Given the description of an element on the screen output the (x, y) to click on. 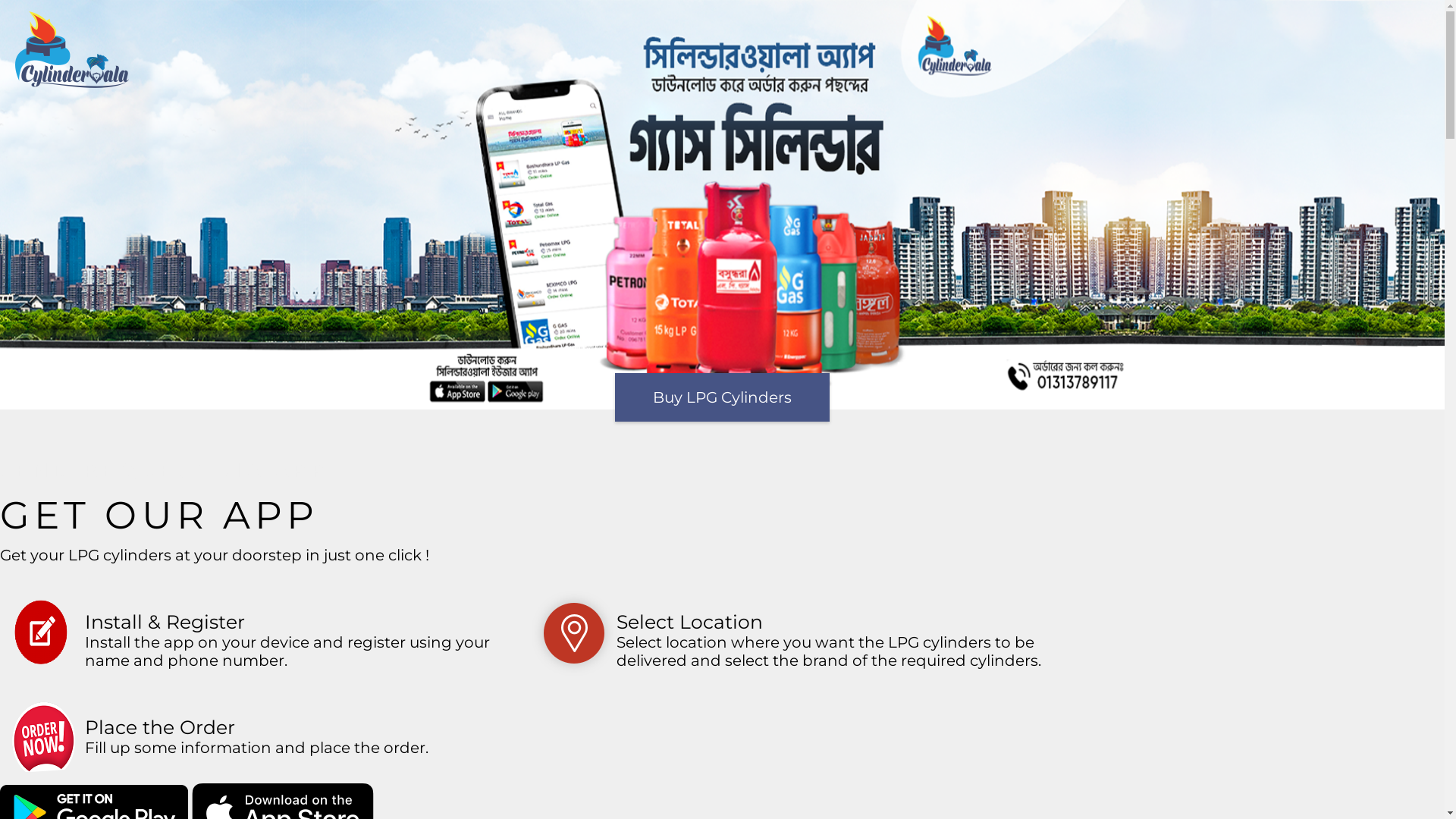
Buy LPG Cylinders Element type: text (722, 397)
